Given the description of an element on the screen output the (x, y) to click on. 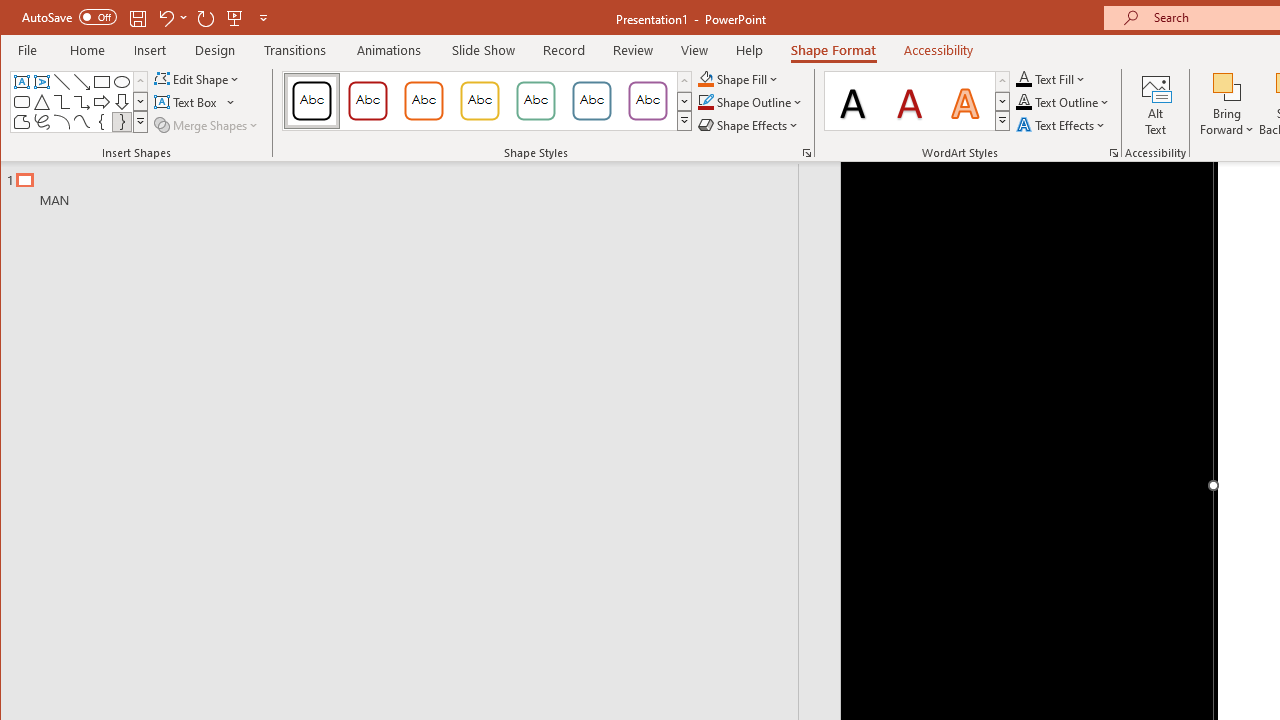
Text Fill (1051, 78)
